Given the description of an element on the screen output the (x, y) to click on. 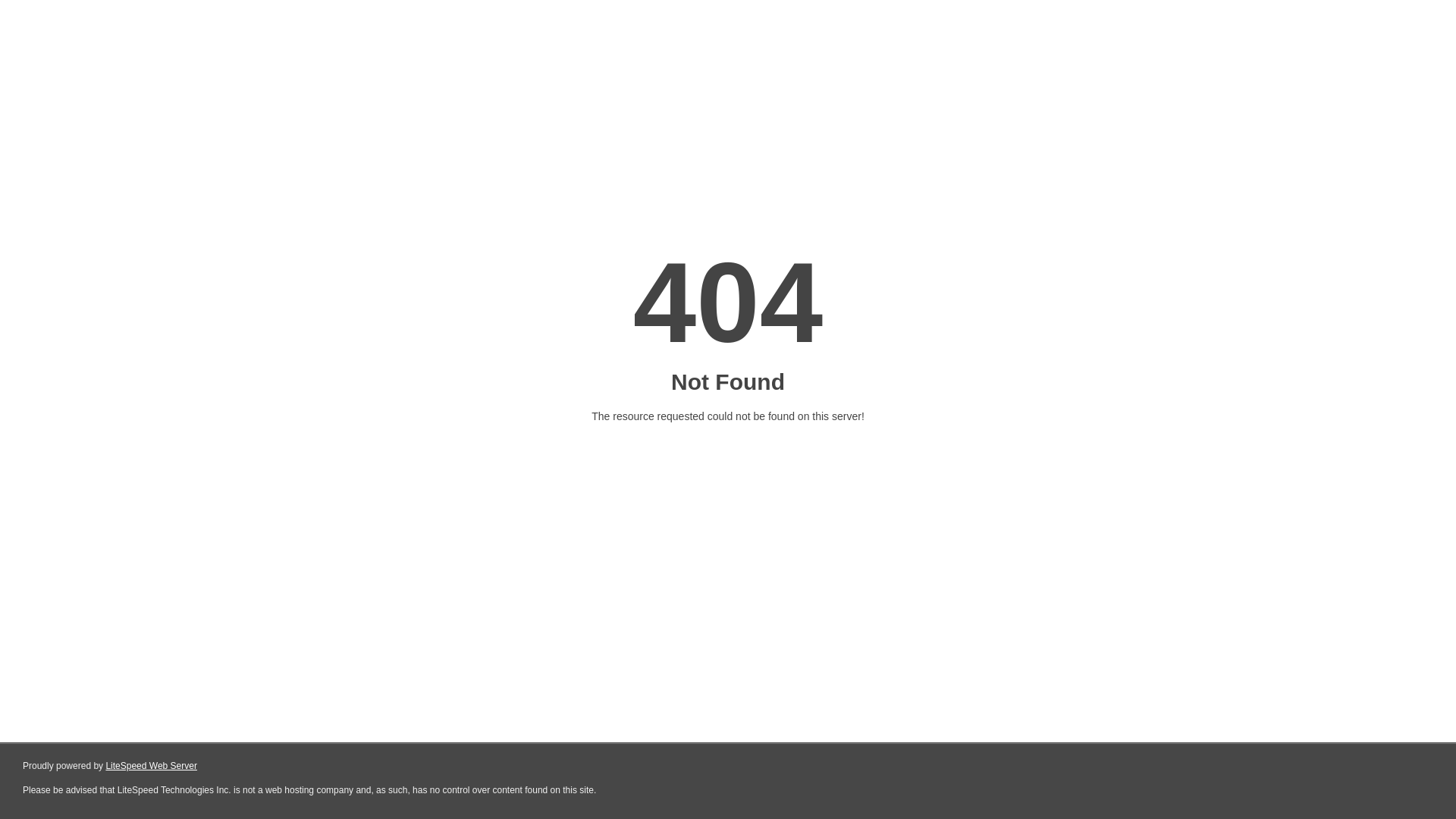
LiteSpeed Web Server Element type: text (151, 765)
